Given the description of an element on the screen output the (x, y) to click on. 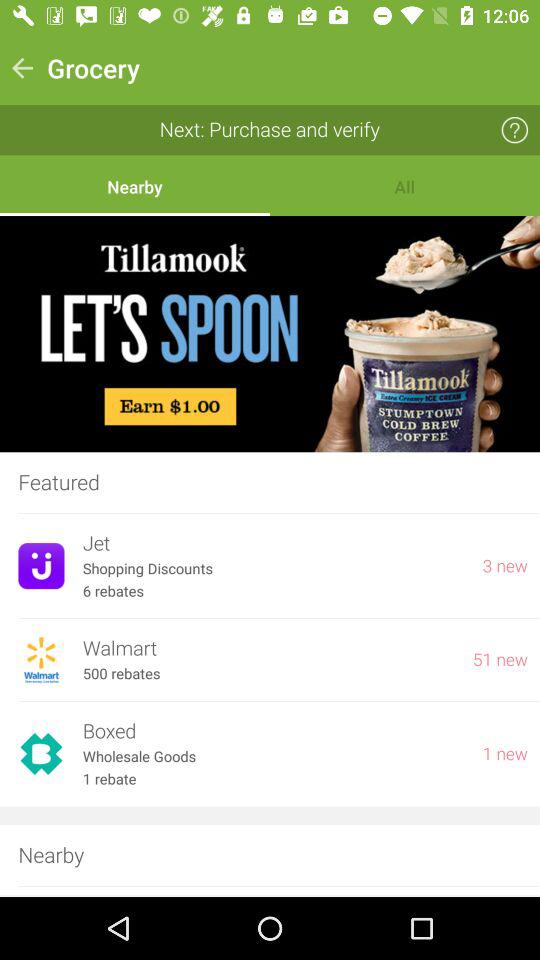
scroll until 500 rebates icon (121, 673)
